Given the description of an element on the screen output the (x, y) to click on. 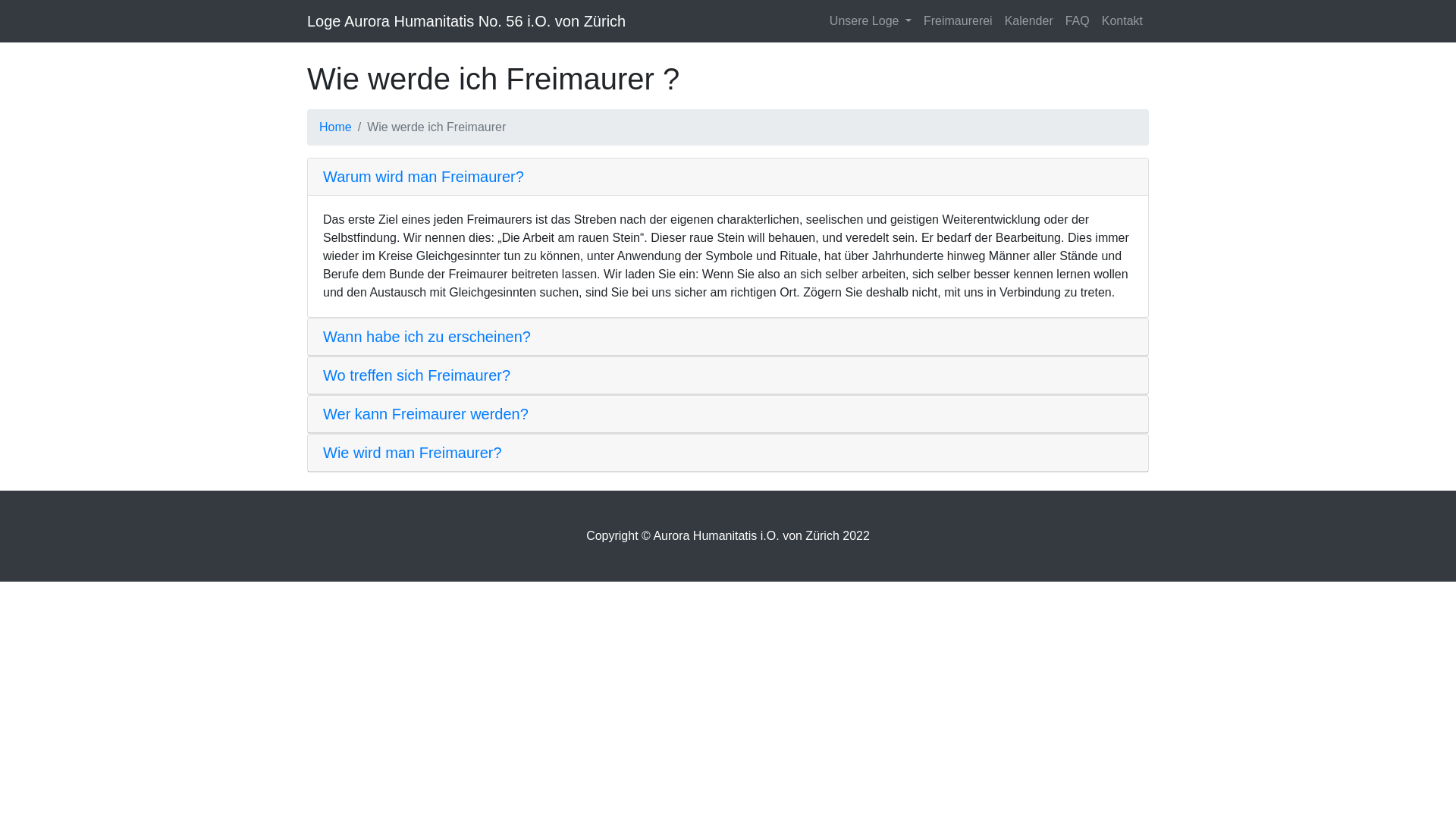
FAQ Element type: text (1077, 21)
Wer kann Freimaurer werden? Element type: text (425, 413)
Kalender Element type: text (1028, 21)
Unsere Loge Element type: text (870, 21)
Wann habe ich zu erscheinen? Element type: text (426, 336)
Kontakt Element type: text (1121, 21)
Warum wird man Freimaurer? Element type: text (423, 176)
Wie wird man Freimaurer? Element type: text (412, 452)
Freimaurerei Element type: text (957, 21)
Wo treffen sich Freimaurer? Element type: text (416, 375)
Home Element type: text (335, 126)
